Given the description of an element on the screen output the (x, y) to click on. 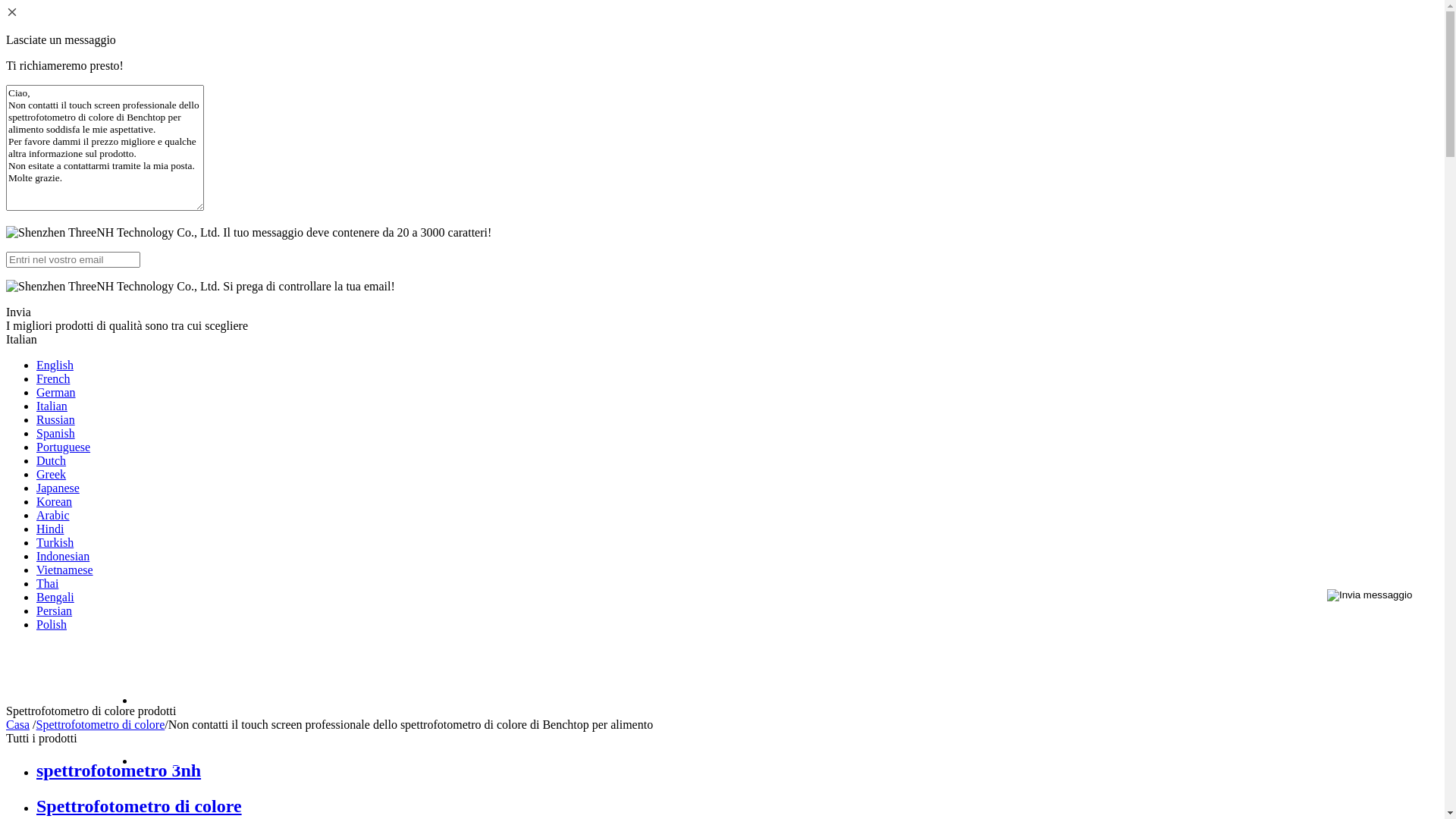
Russian Element type: text (55, 106)
Hindi Element type: text (49, 215)
Japanese Element type: text (57, 174)
Casa Element type: text (17, 724)
Arabic Element type: text (52, 201)
Indonesian Element type: text (62, 242)
German Element type: text (55, 78)
Prodotti Element type: text (786, 507)
Dutch Element type: text (50, 147)
Spettrofotometro di colore Element type: text (138, 805)
Korean Element type: text (54, 188)
Italian Element type: text (51, 92)
Spettrofotometro di colore Element type: text (100, 724)
Polish Element type: text (51, 310)
Thai Element type: text (47, 269)
French Element type: text (52, 65)
Portuguese Element type: text (63, 133)
Chi Siamo Element type: text (786, 447)
Turkish Element type: text (54, 228)
Persian Element type: text (54, 297)
Vietnamese Element type: text (64, 256)
Spanish Element type: text (55, 119)
English Element type: text (54, 51)
Bengali Element type: text (55, 283)
Greek Element type: text (50, 160)
spettrofotometro 3nh Element type: text (118, 770)
Casa Element type: text (786, 386)
